Given the description of an element on the screen output the (x, y) to click on. 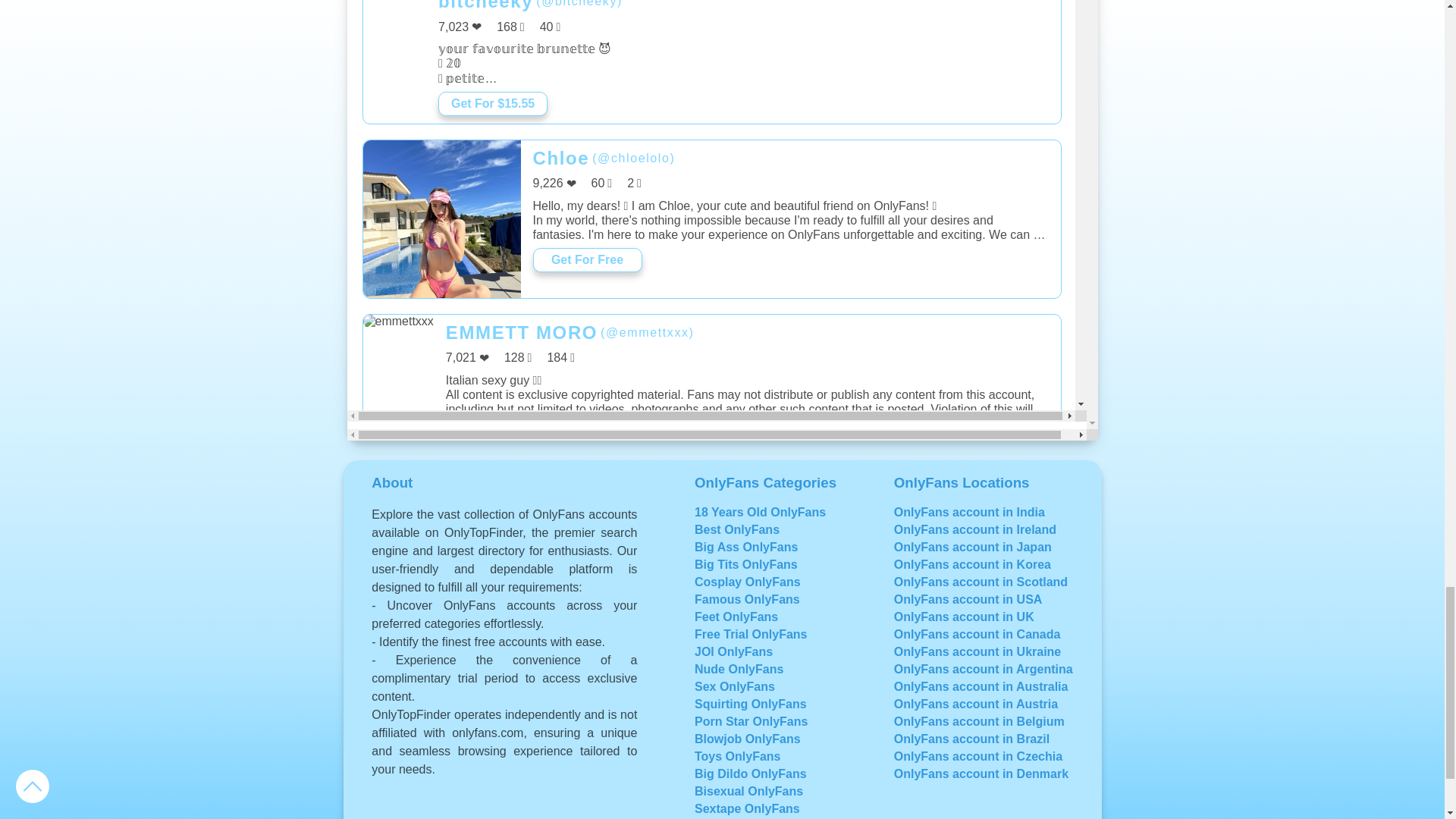
Get For Free (587, 591)
Get For Free (514, 765)
Get For Free (587, 259)
